Given the description of an element on the screen output the (x, y) to click on. 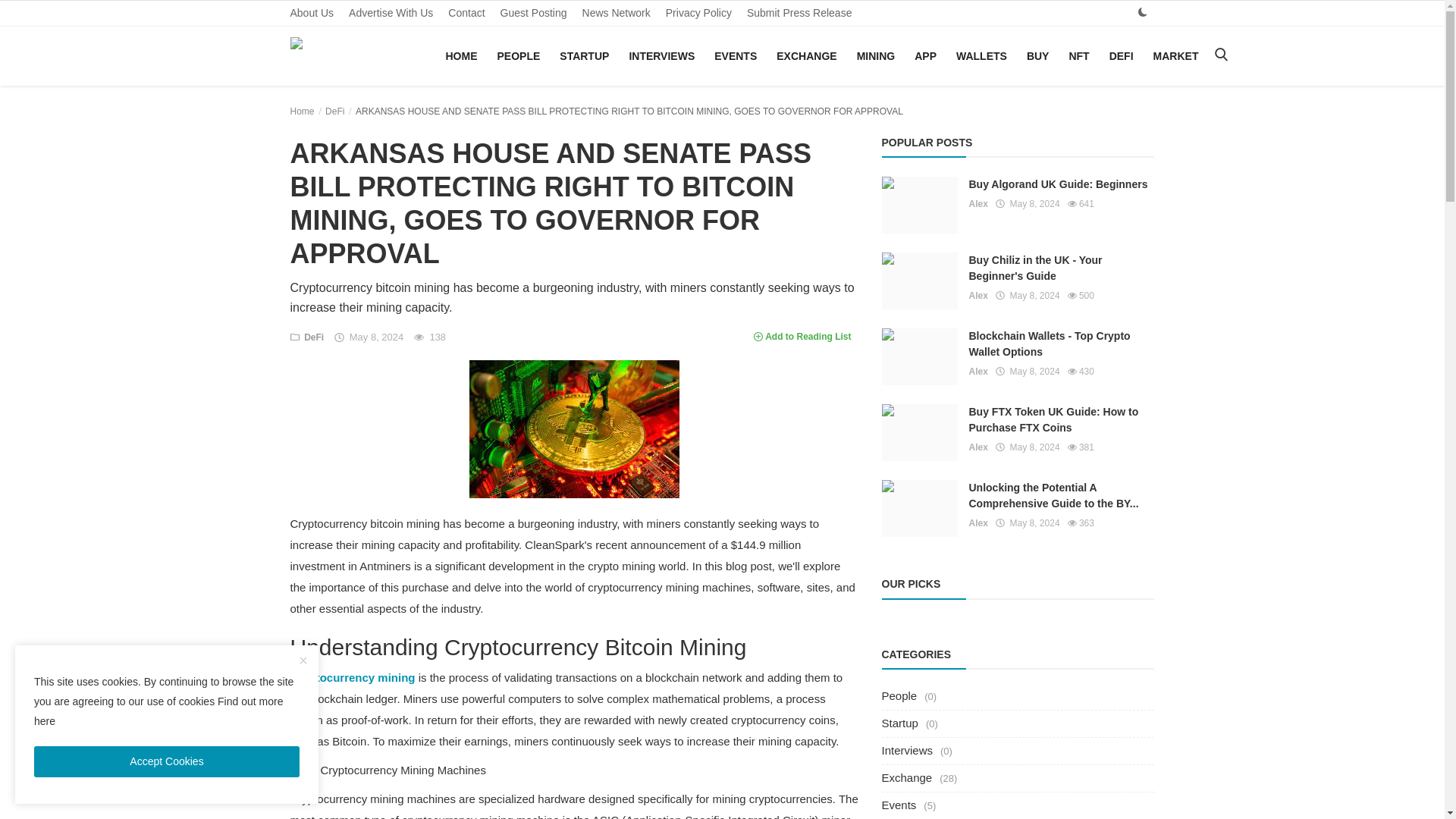
Contact (466, 13)
WALLETS (981, 55)
INTERVIEWS (661, 55)
dark (1141, 12)
Advertise With Us (390, 13)
PEOPLE (518, 55)
MINING (875, 55)
Guest Posting (534, 13)
About Us (311, 13)
EXCHANGE (806, 55)
